Given the description of an element on the screen output the (x, y) to click on. 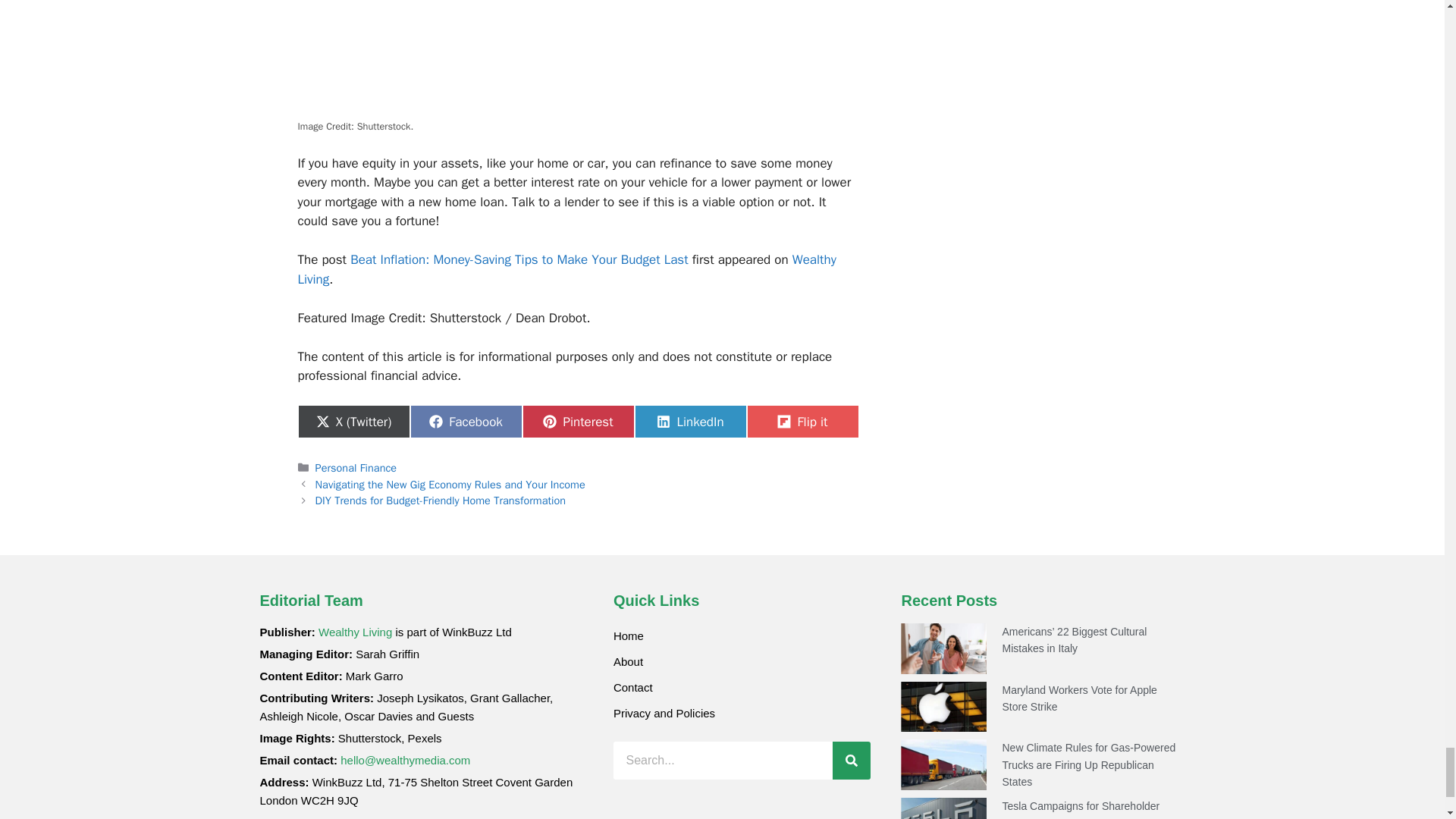
Contact (741, 687)
DIY Trends for Budget-Friendly Home Transformation (440, 499)
LinkedIn (689, 421)
Personal Finance (356, 468)
Beat Inflation: Money-Saving Tips to Make Your Budget Last (519, 259)
Beat Inflation: Money-Saving Tips to Make Your Budget Last (519, 259)
Facebook (465, 421)
Navigating the New Gig Economy Rules and Your Income (450, 484)
Pinterest (577, 421)
About (741, 661)
Wealthy Living (566, 269)
Wealthy Living (354, 631)
Privacy and Policies (741, 713)
Home (741, 636)
